Given the description of an element on the screen output the (x, y) to click on. 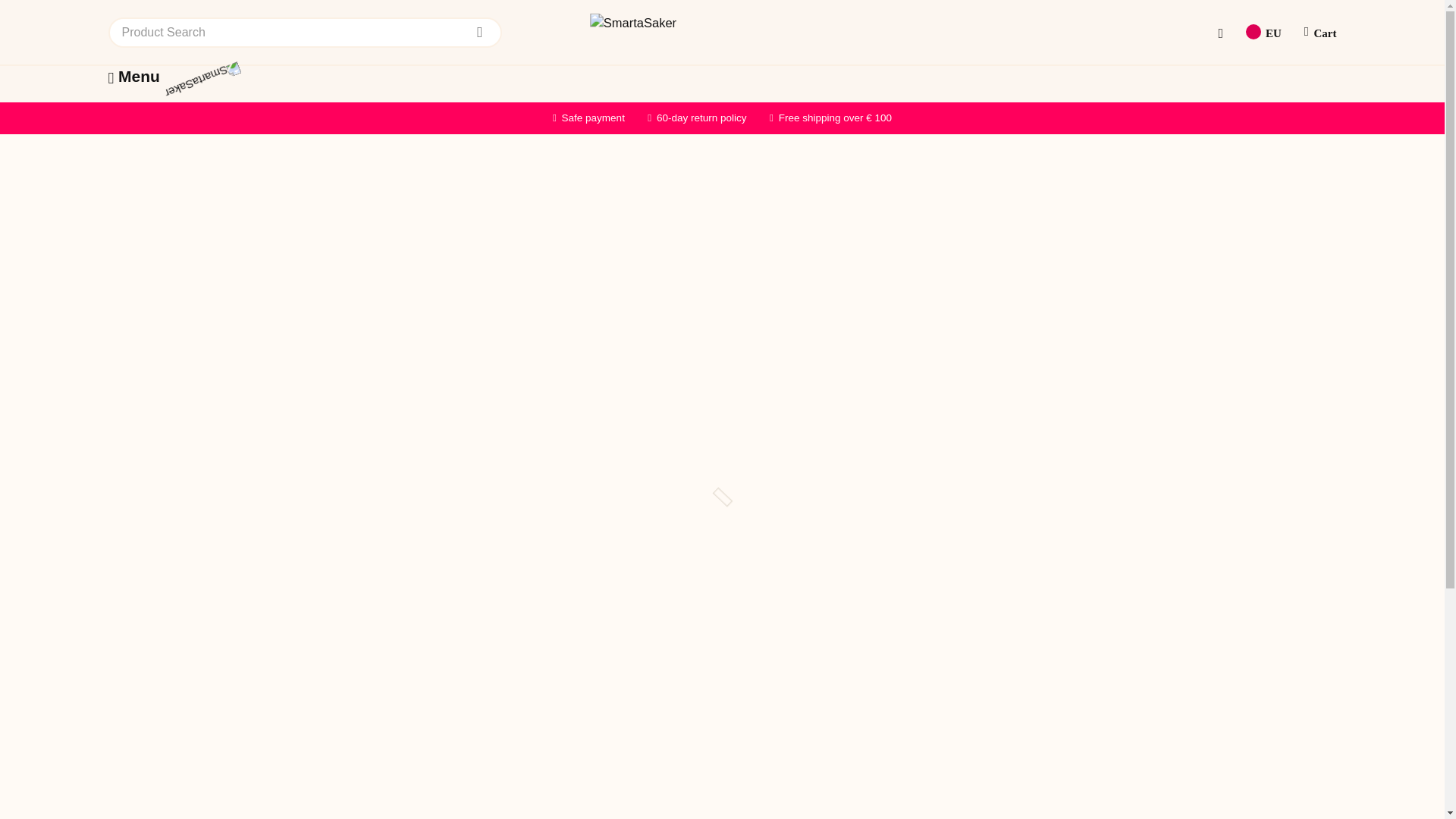
du (750, 485)
1-21 (750, 504)
vviutv (750, 466)
1 (831, 400)
Best-sellers (365, 110)
New (298, 110)
